Given the description of an element on the screen output the (x, y) to click on. 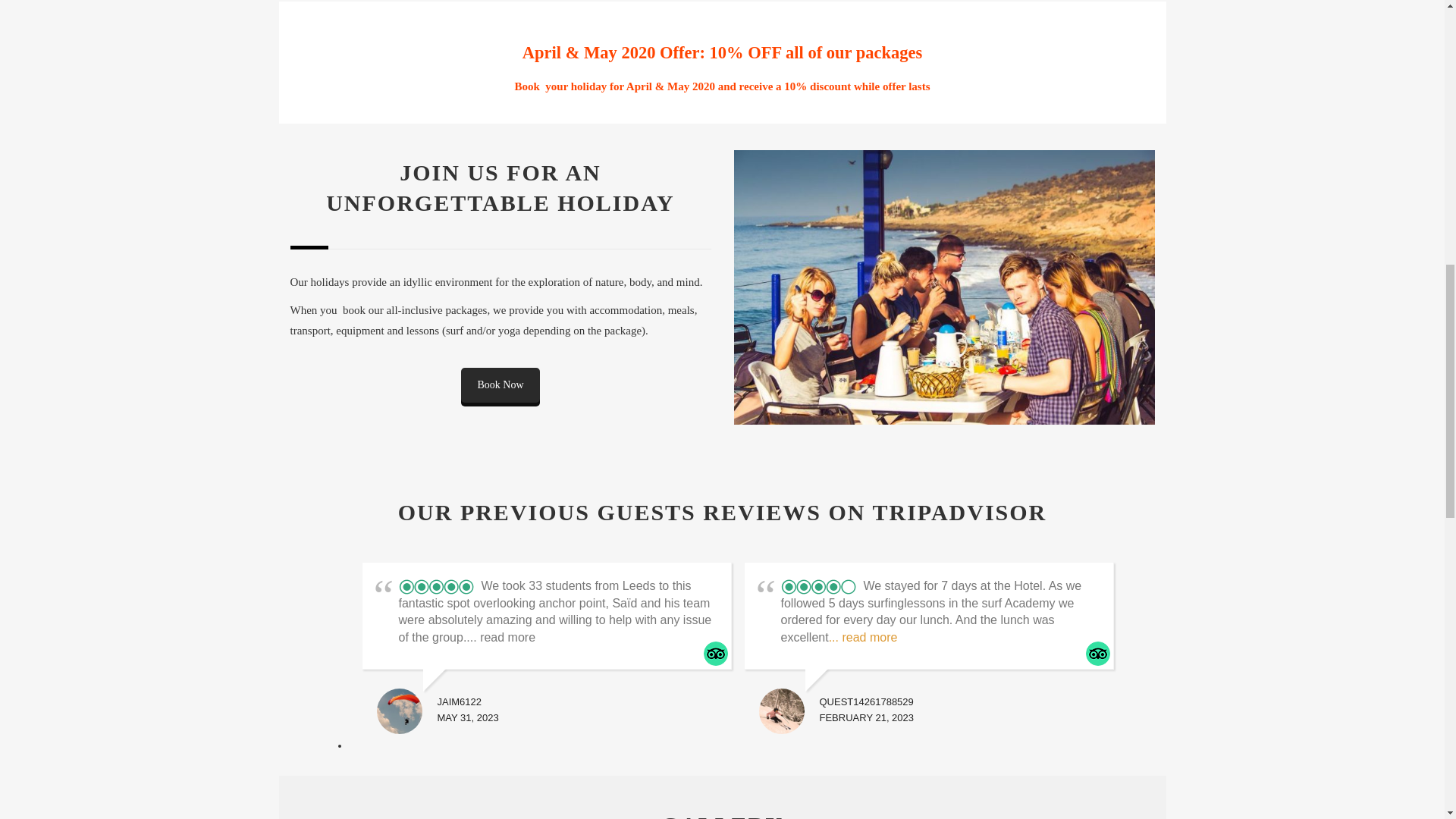
Book Now (499, 384)
Book now (499, 384)
... read more (863, 637)
